Given the description of an element on the screen output the (x, y) to click on. 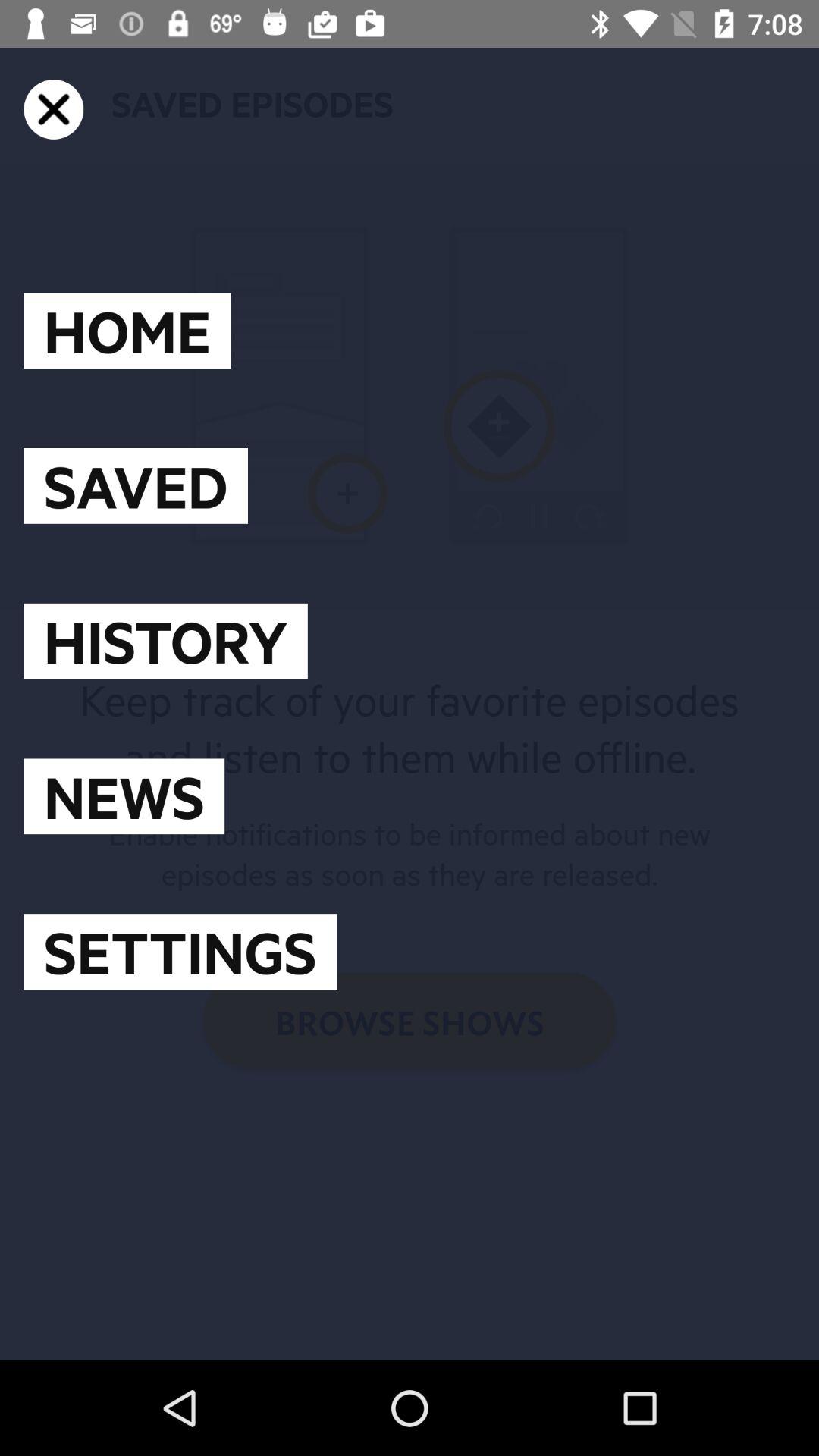
turn on the icon above saved (126, 330)
